Given the description of an element on the screen output the (x, y) to click on. 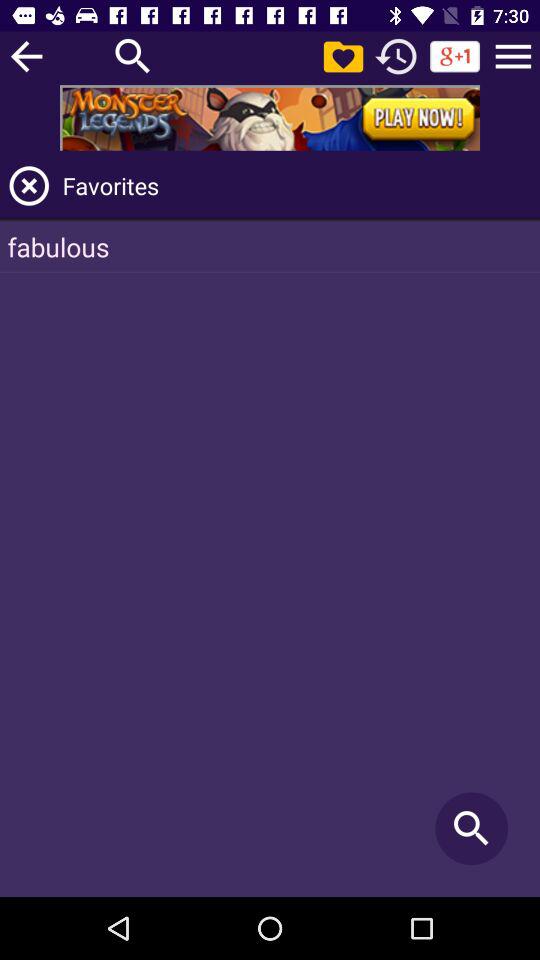
tap the fabulous (270, 246)
